Given the description of an element on the screen output the (x, y) to click on. 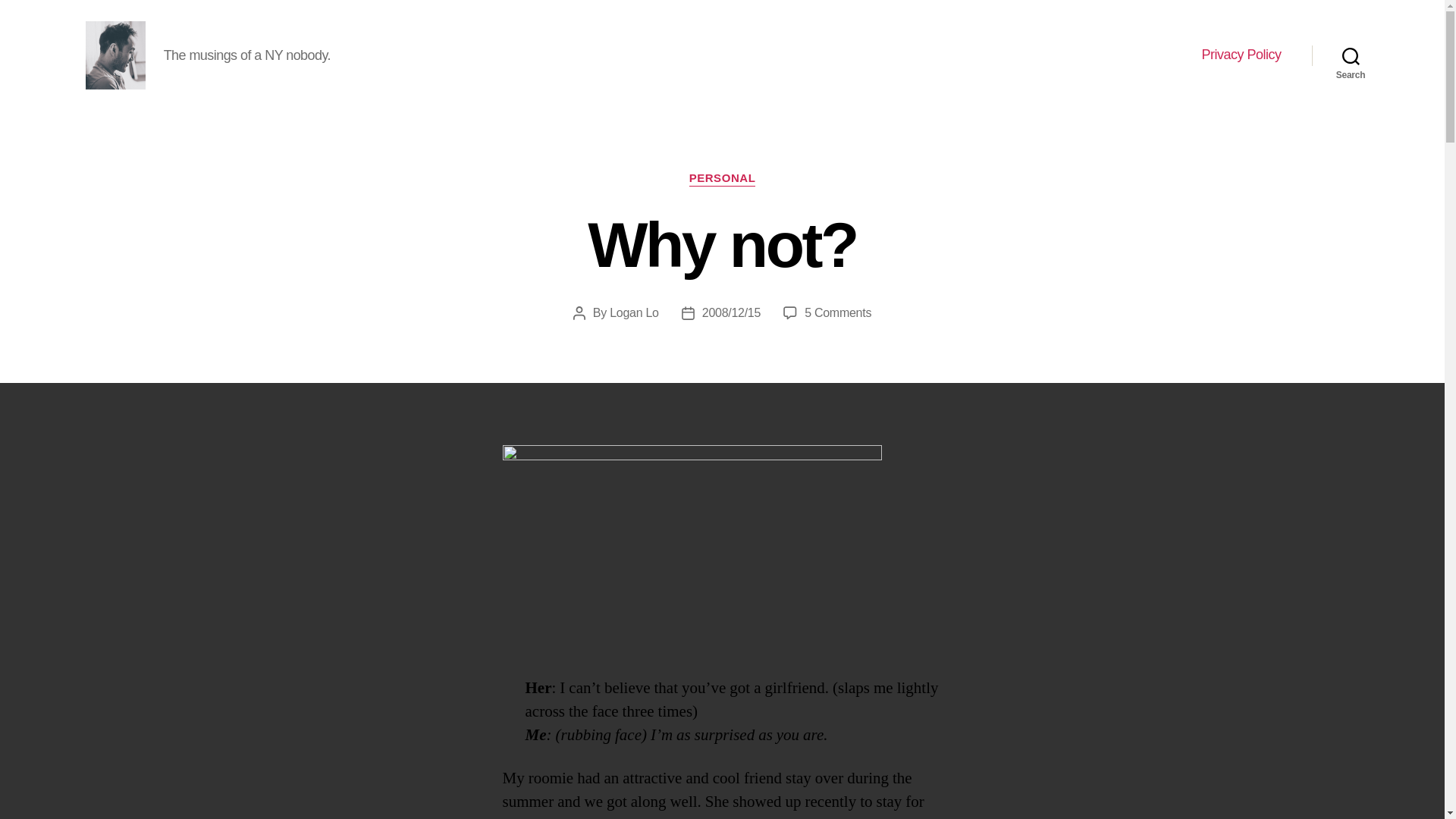
Logan Lo (634, 312)
Search (1350, 55)
PERSONAL (721, 178)
Privacy Policy (837, 312)
